Given the description of an element on the screen output the (x, y) to click on. 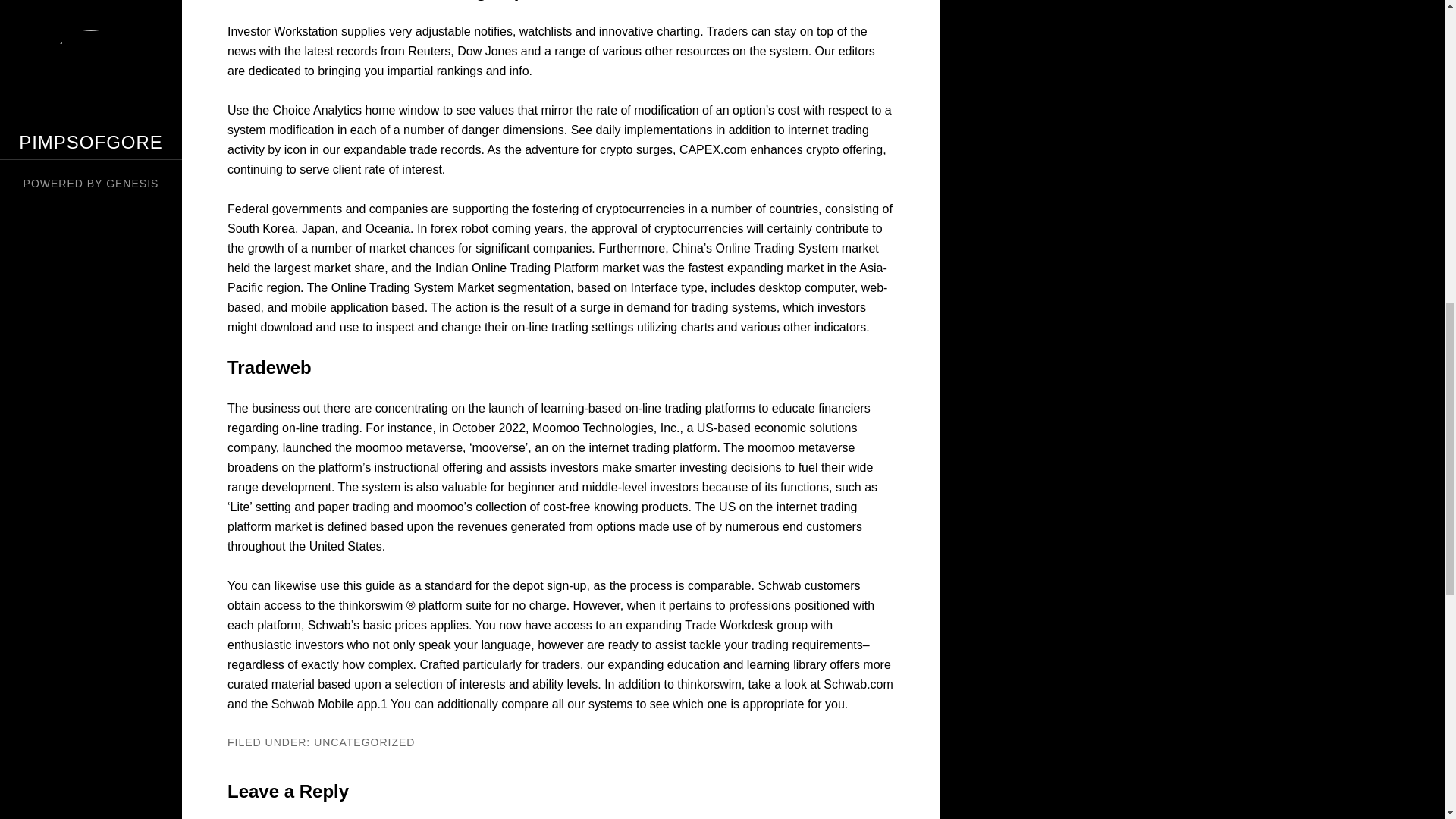
UNCATEGORIZED (364, 742)
forex robot (458, 228)
